Given the description of an element on the screen output the (x, y) to click on. 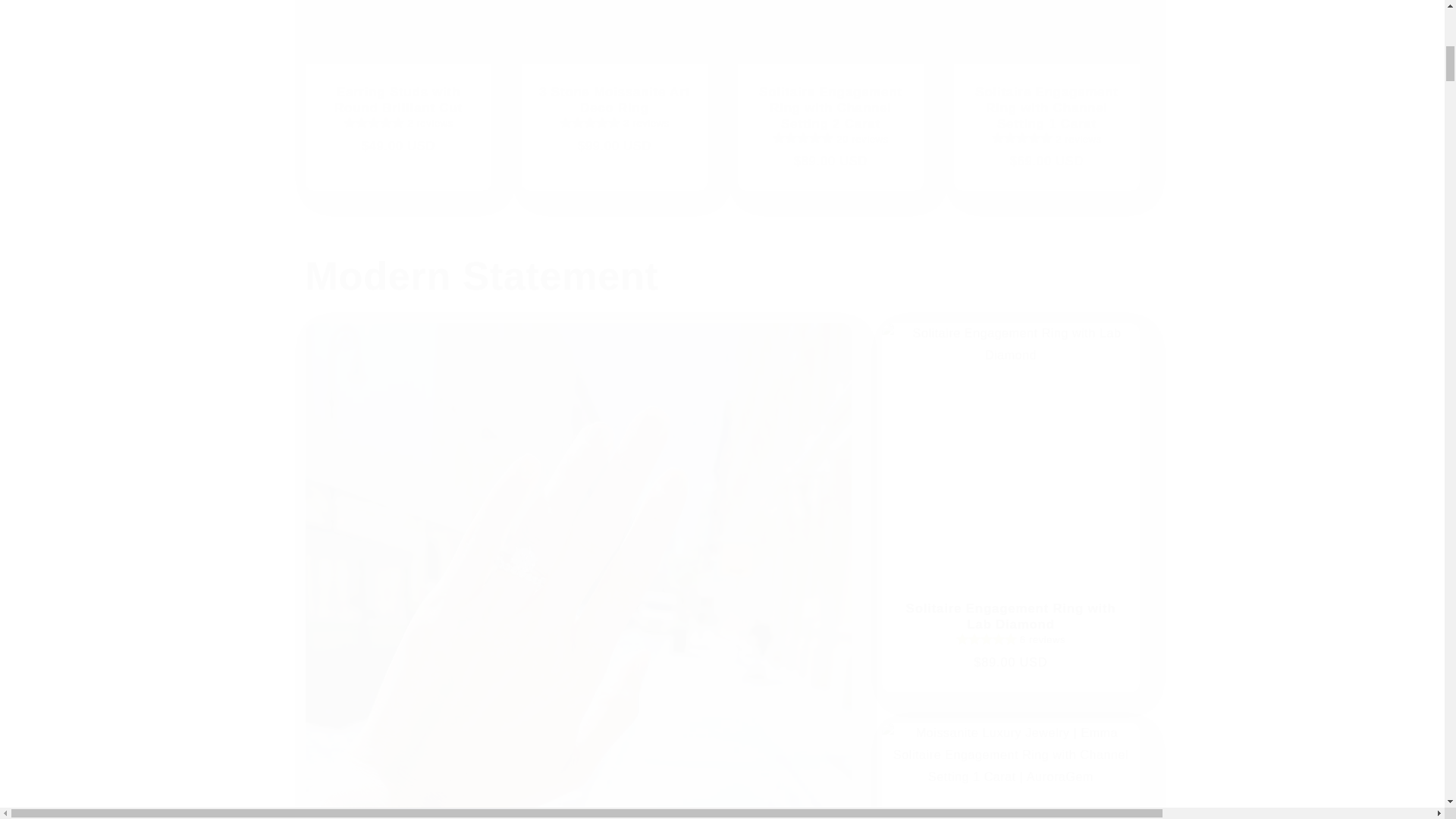
3 Stone Moissanite Art Deco Ring (615, 101)
Solitaire Engagement Ring with Channel Setting 2 Carat (829, 108)
Earring Studs with Round Brilliant Cut (398, 101)
Signature Collection (1009, 770)
Solitaire Engagement Ring with Lab Diamond (1010, 617)
Modern Statement (721, 275)
Solitaire Engagement Ring with Channel Setting 1 Carat (1046, 108)
